Given the description of an element on the screen output the (x, y) to click on. 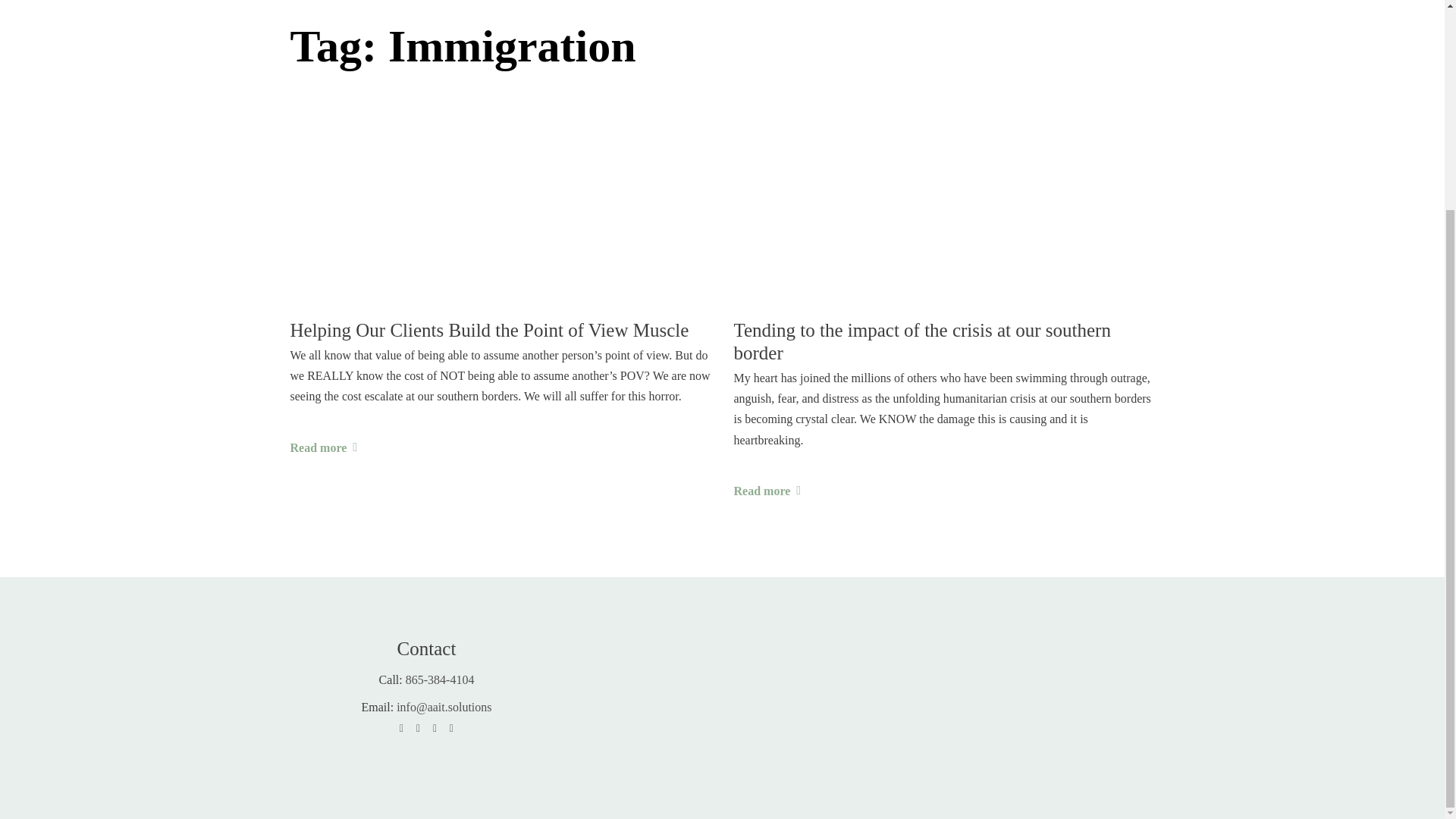
Read more (322, 447)
Read more (767, 490)
Tending to the impact of the crisis at our southern border (943, 341)
865-384-4104 (440, 679)
Helping Our Clients Build the Point of View Muscle (499, 330)
